Given the description of an element on the screen output the (x, y) to click on. 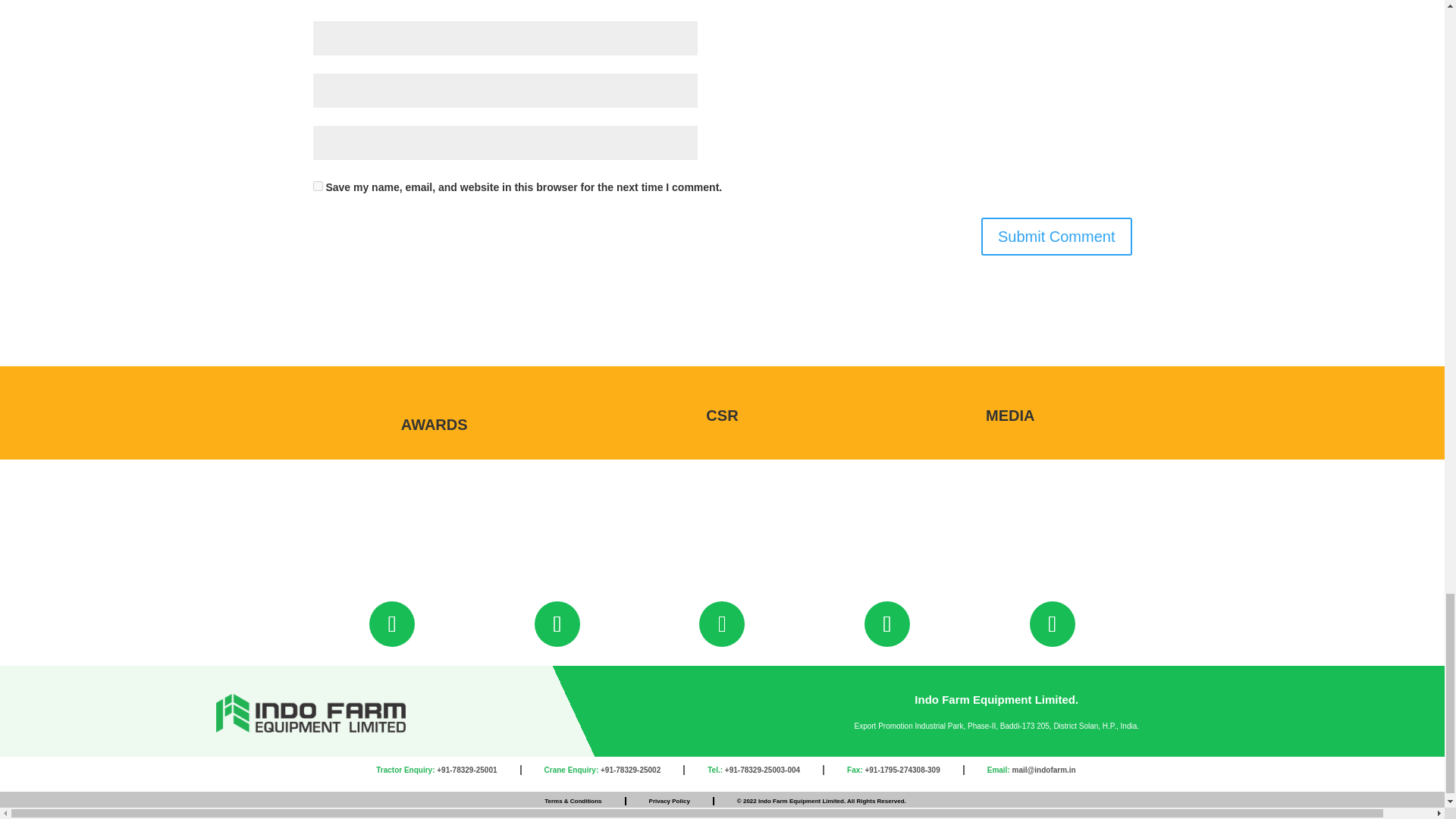
Follow on Facebook (391, 624)
Follow on Instagram (556, 624)
yes (317, 185)
Follow on Twitter (887, 624)
Submit Comment (1056, 235)
Follow on LinkedIn (1052, 624)
Follow on Youtube (721, 624)
INDOFARM LOGO 1 (310, 712)
